Given the description of an element on the screen output the (x, y) to click on. 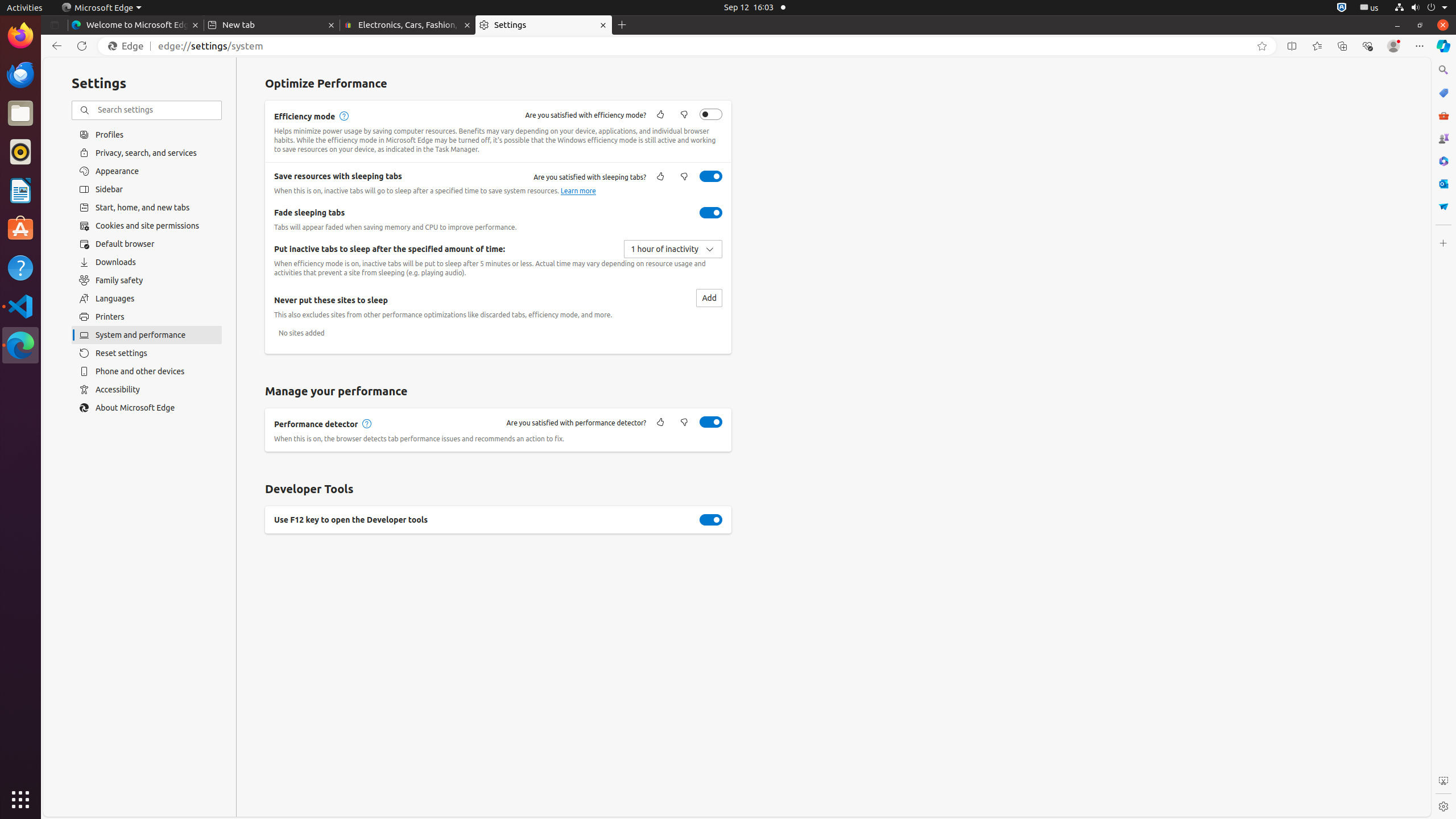
Tab actions menu Element type: push-button (54, 24)
Settings Element type: push-button (1443, 806)
Microsoft Shopping Element type: push-button (1443, 92)
Split screen Element type: push-button (1291, 45)
Ubuntu Software Element type: push-button (20, 229)
